Given the description of an element on the screen output the (x, y) to click on. 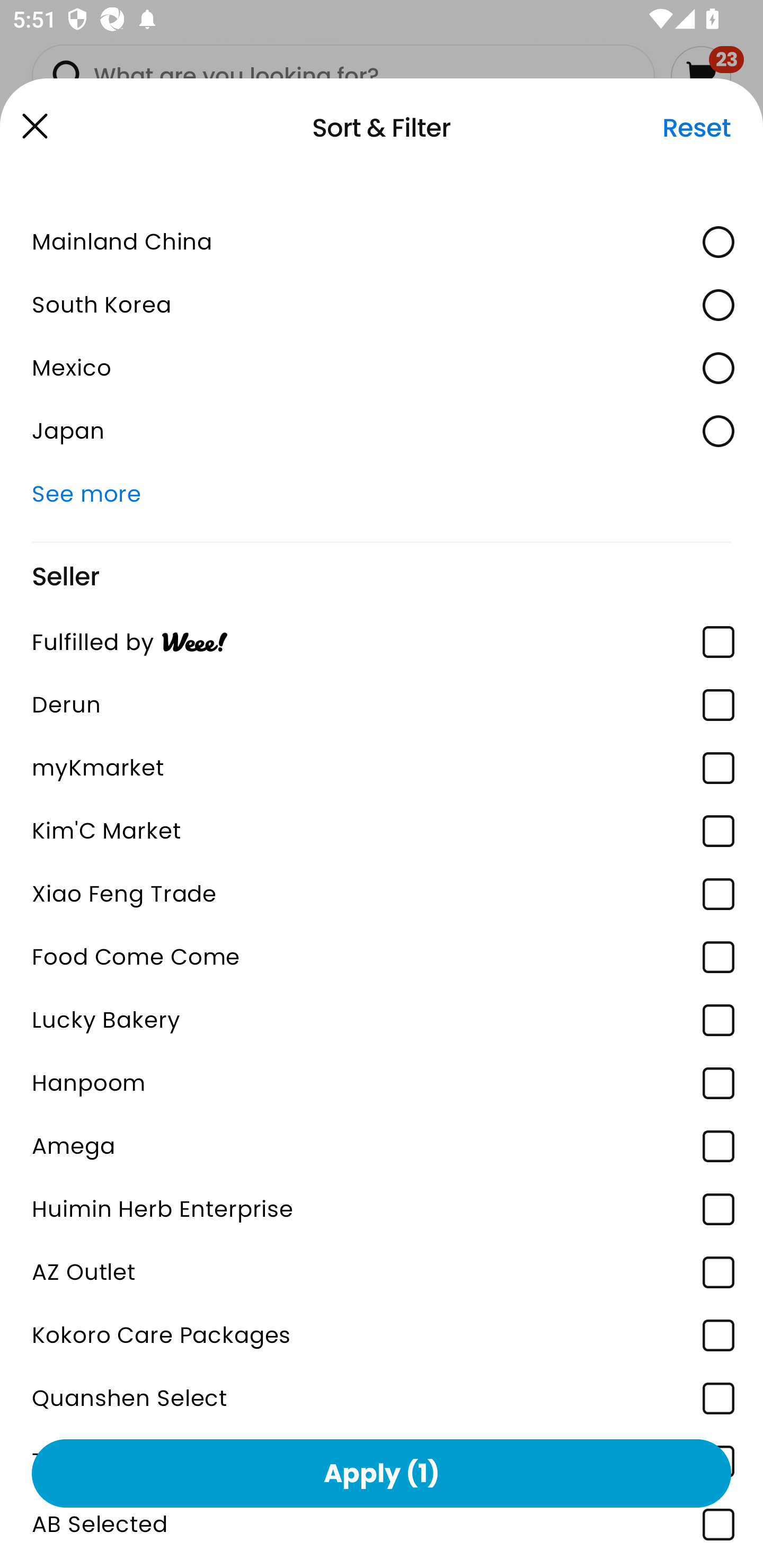
Reset (696, 127)
See more (381, 493)
Apply (1) (381, 1472)
